Given the description of an element on the screen output the (x, y) to click on. 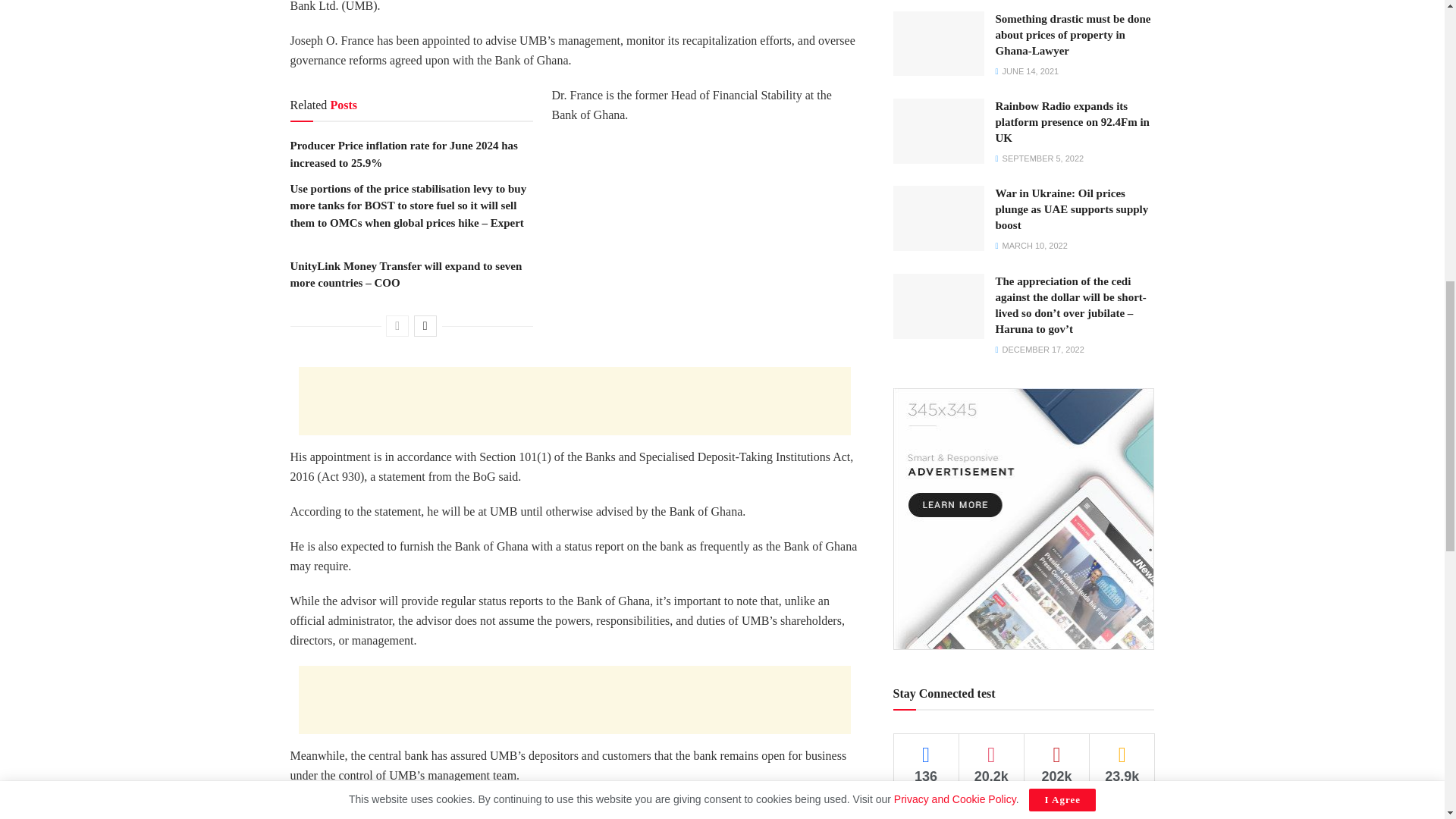
Previous (397, 325)
Next (424, 325)
